Given the description of an element on the screen output the (x, y) to click on. 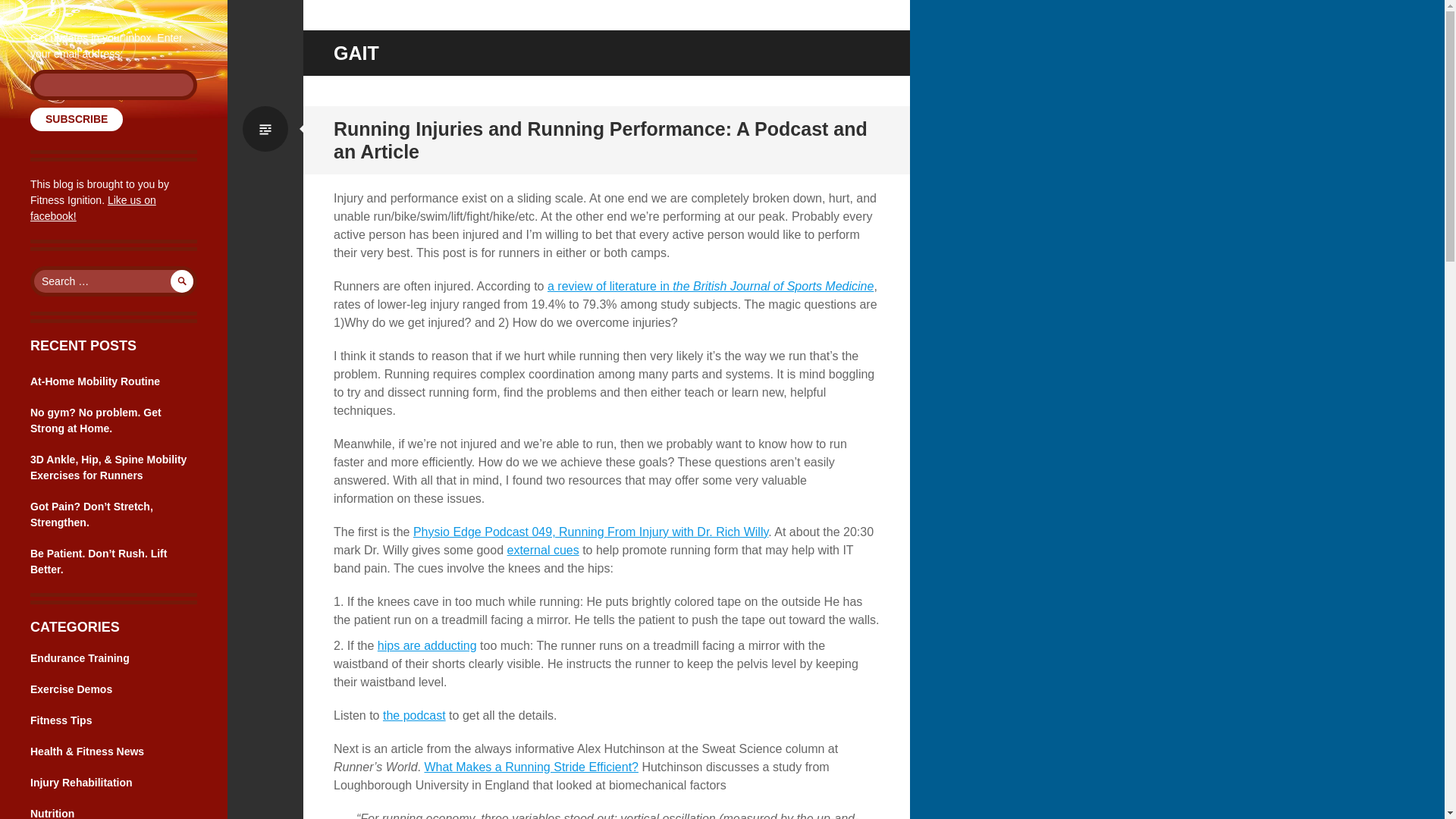
Subscribe (76, 119)
Fitness Tips (60, 720)
the podcast (413, 715)
No gym? No problem. Get Strong at Home. (95, 420)
Search for: (113, 281)
Exercise Demos (71, 689)
hips are adducting (427, 645)
Like us on facebook! (92, 207)
At-Home Mobility Routine (95, 381)
Endurance Training (79, 657)
external cues (542, 549)
Injury Rehabilitation (81, 782)
